Given the description of an element on the screen output the (x, y) to click on. 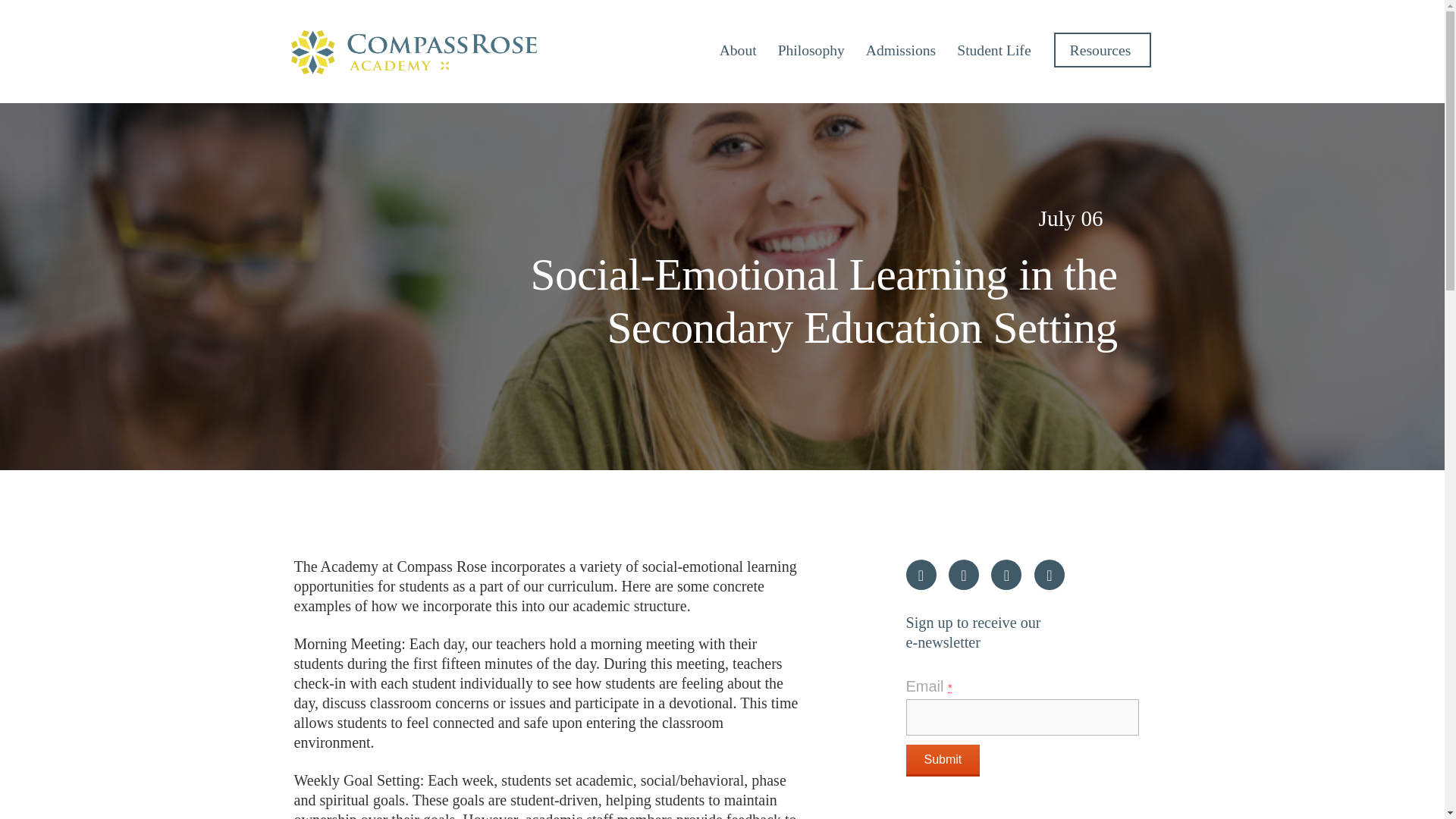
Admissions (901, 50)
Philosophy (810, 50)
Philosophy (810, 50)
Resources (1102, 49)
Student Life (993, 50)
About (738, 50)
About (738, 50)
Submit (942, 760)
Submit (942, 760)
Compass Rose Academy (414, 52)
